Given the description of an element on the screen output the (x, y) to click on. 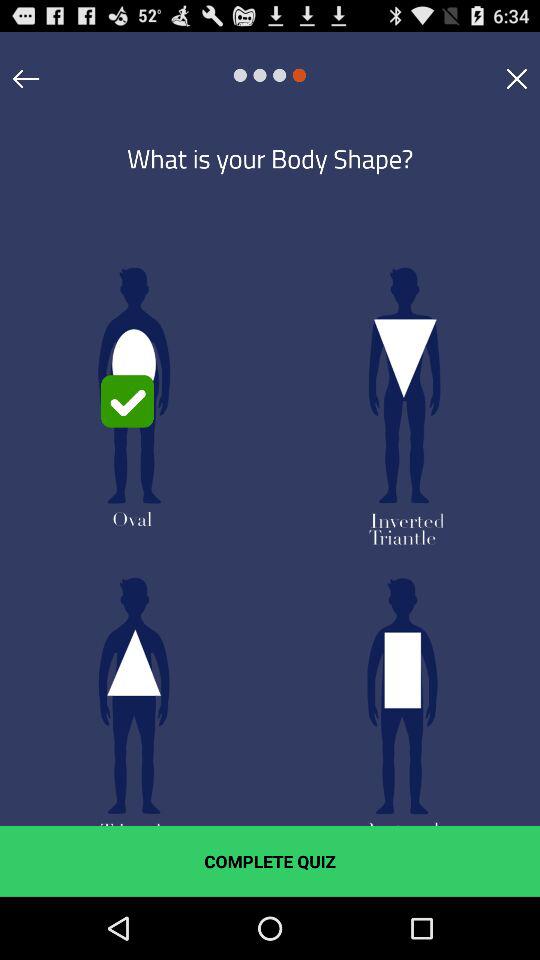
open complete quiz item (270, 861)
